Given the description of an element on the screen output the (x, y) to click on. 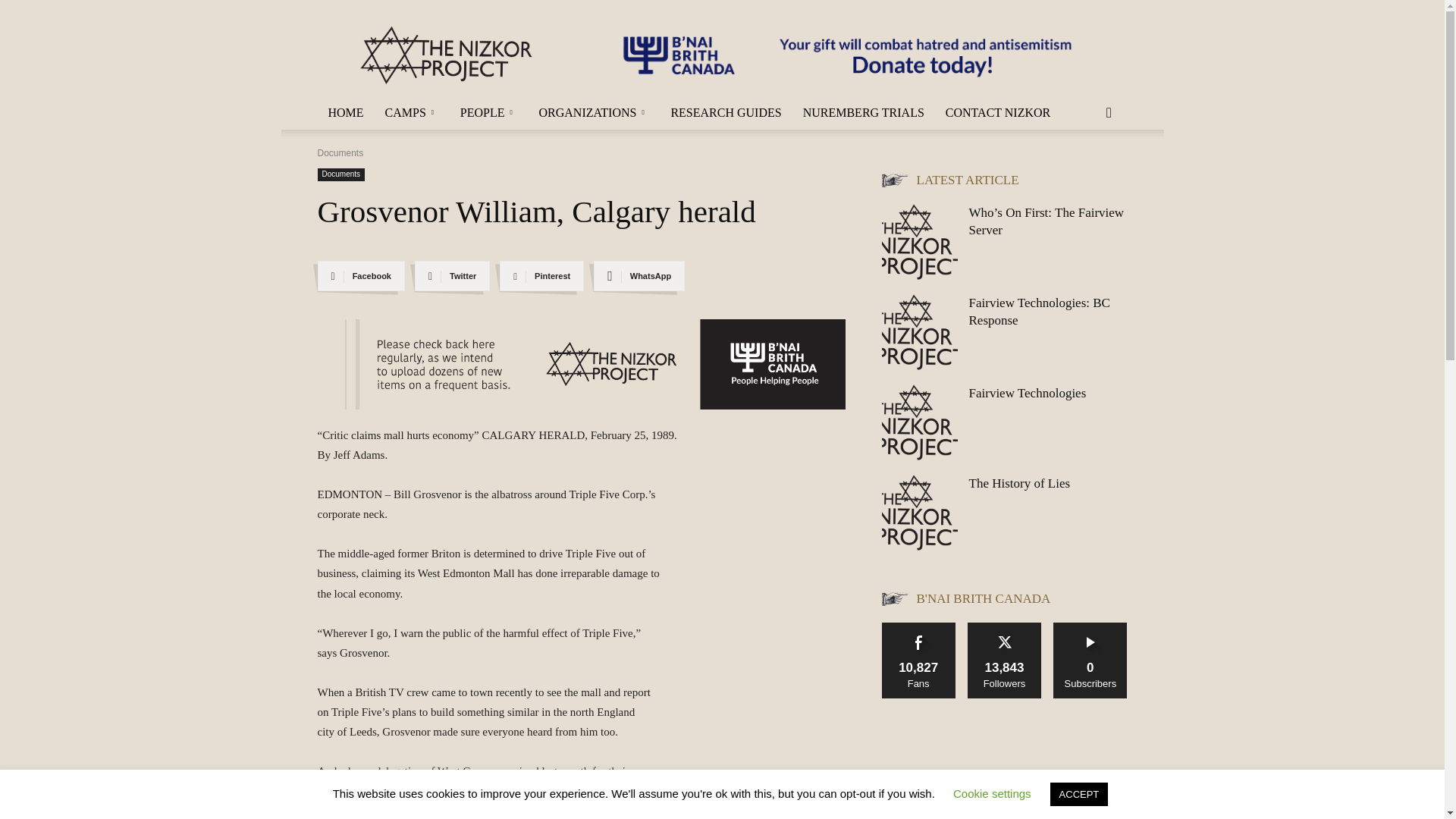
CAMPS (411, 112)
HOME (345, 112)
